Given the description of an element on the screen output the (x, y) to click on. 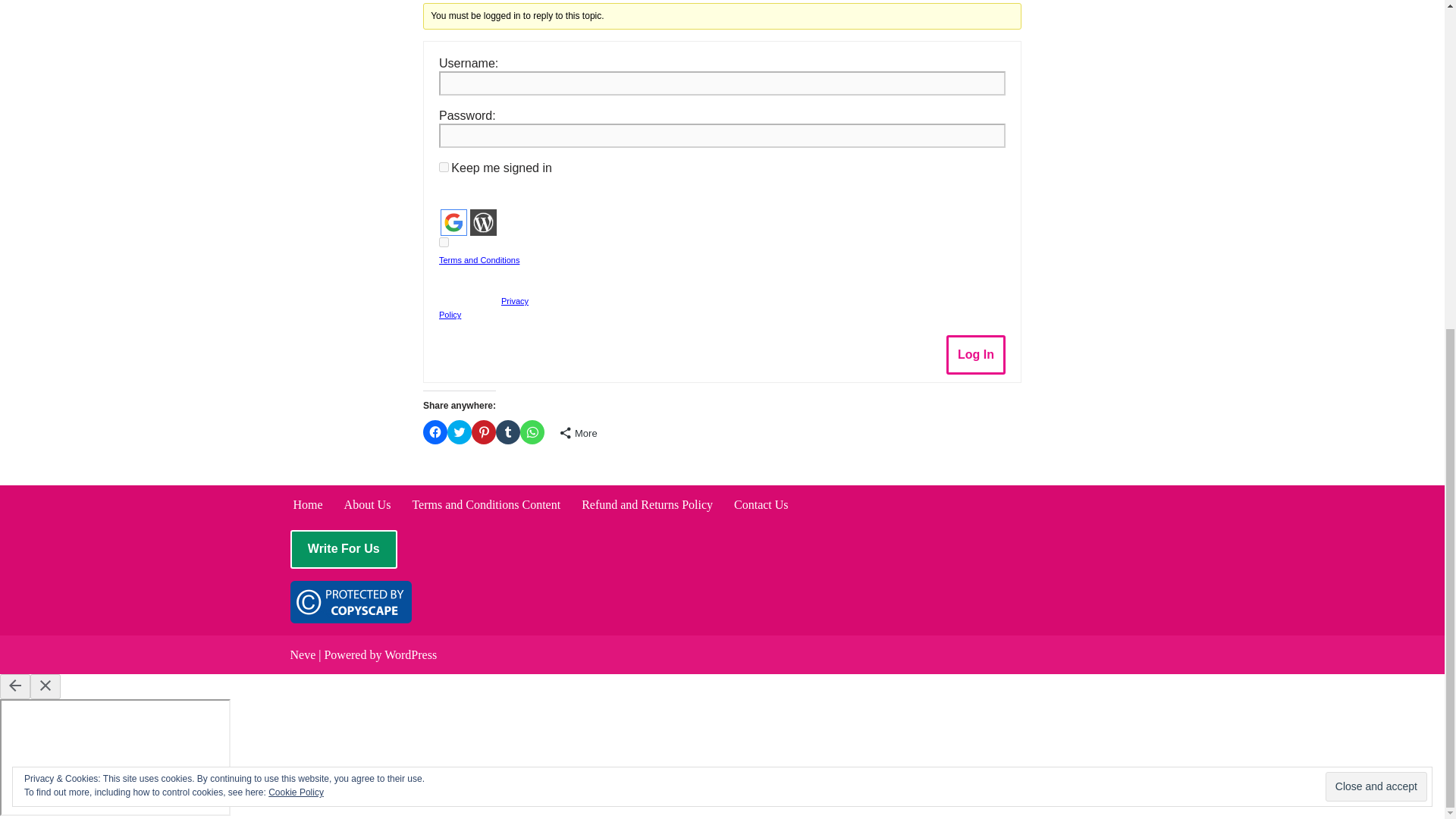
Login with Google (454, 222)
forever (443, 166)
Click to share on Facebook (434, 432)
Click to share on Twitter (458, 432)
Click to share on Pinterest (483, 432)
Close and accept (1375, 243)
Click to share on WhatsApp (531, 432)
1 (443, 242)
Login with Wordpress (483, 222)
Click to share on Tumblr (507, 432)
